Given the description of an element on the screen output the (x, y) to click on. 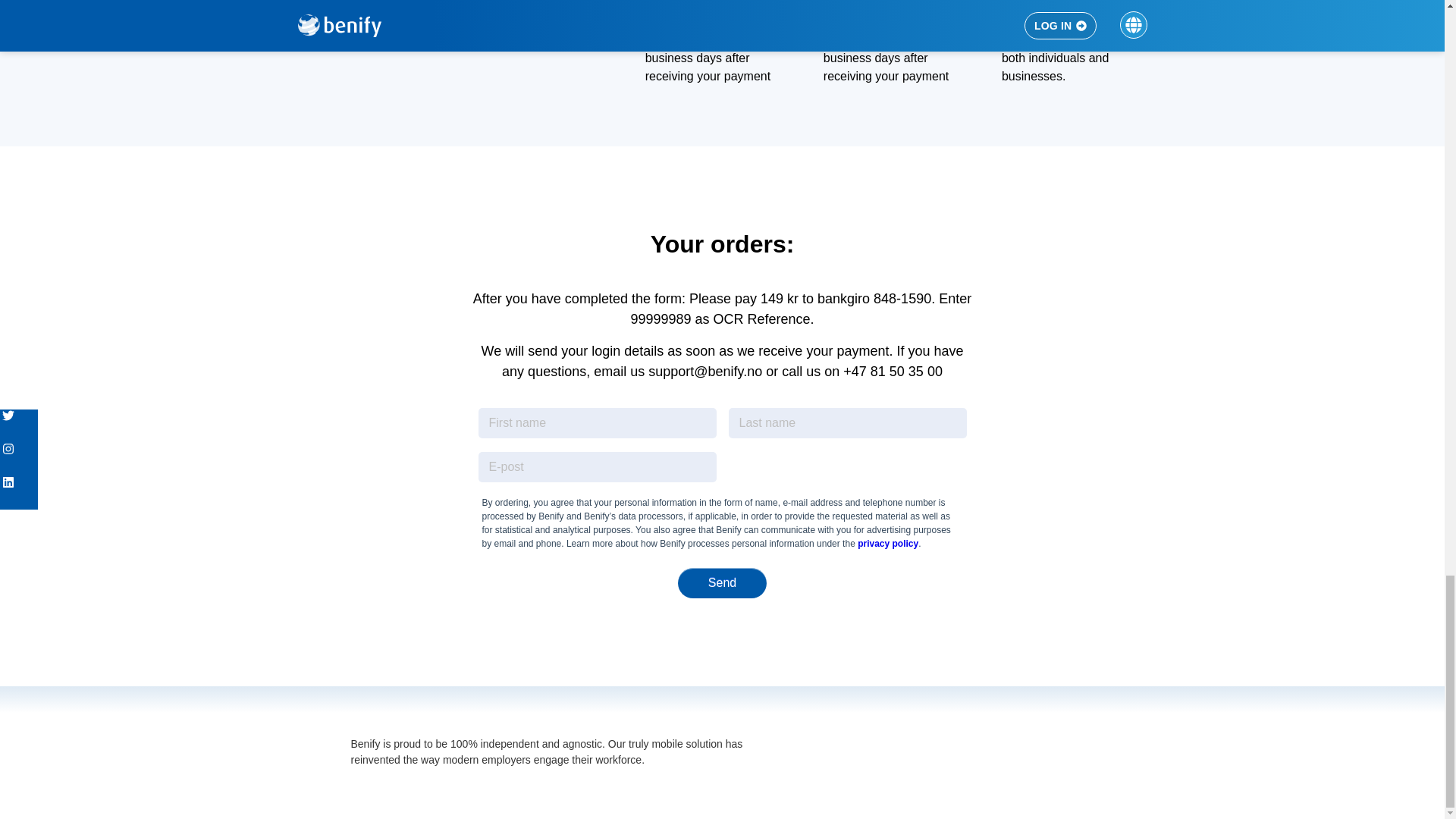
Send (722, 583)
Send (722, 583)
privacy policy (887, 543)
